Given the description of an element on the screen output the (x, y) to click on. 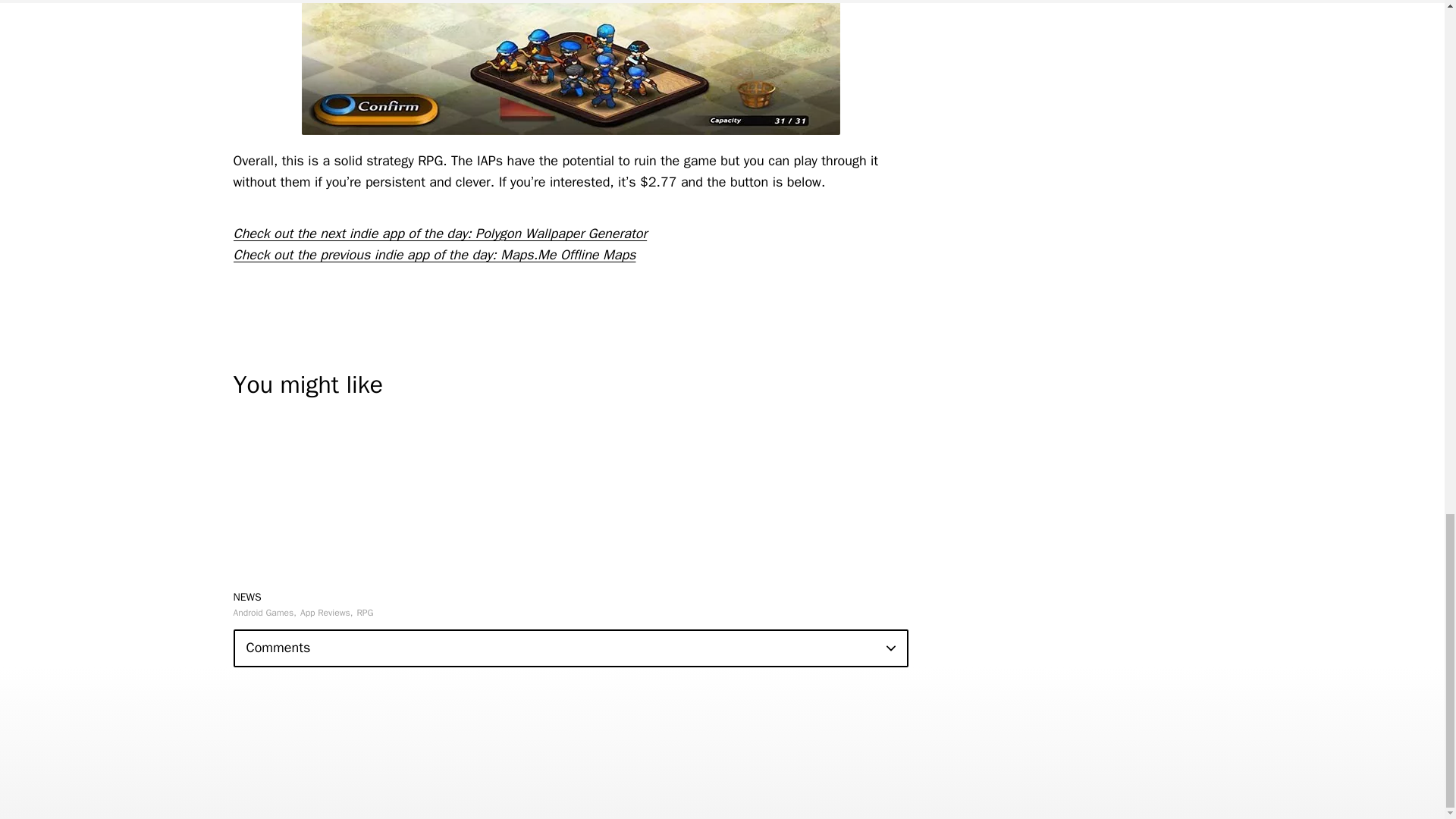
App Reviews (326, 612)
Android Games (264, 612)
NEWS (247, 596)
RPG (364, 612)
Comments (570, 648)
Rebirth of Fortune 2 screenshot (570, 67)
